Given the description of an element on the screen output the (x, y) to click on. 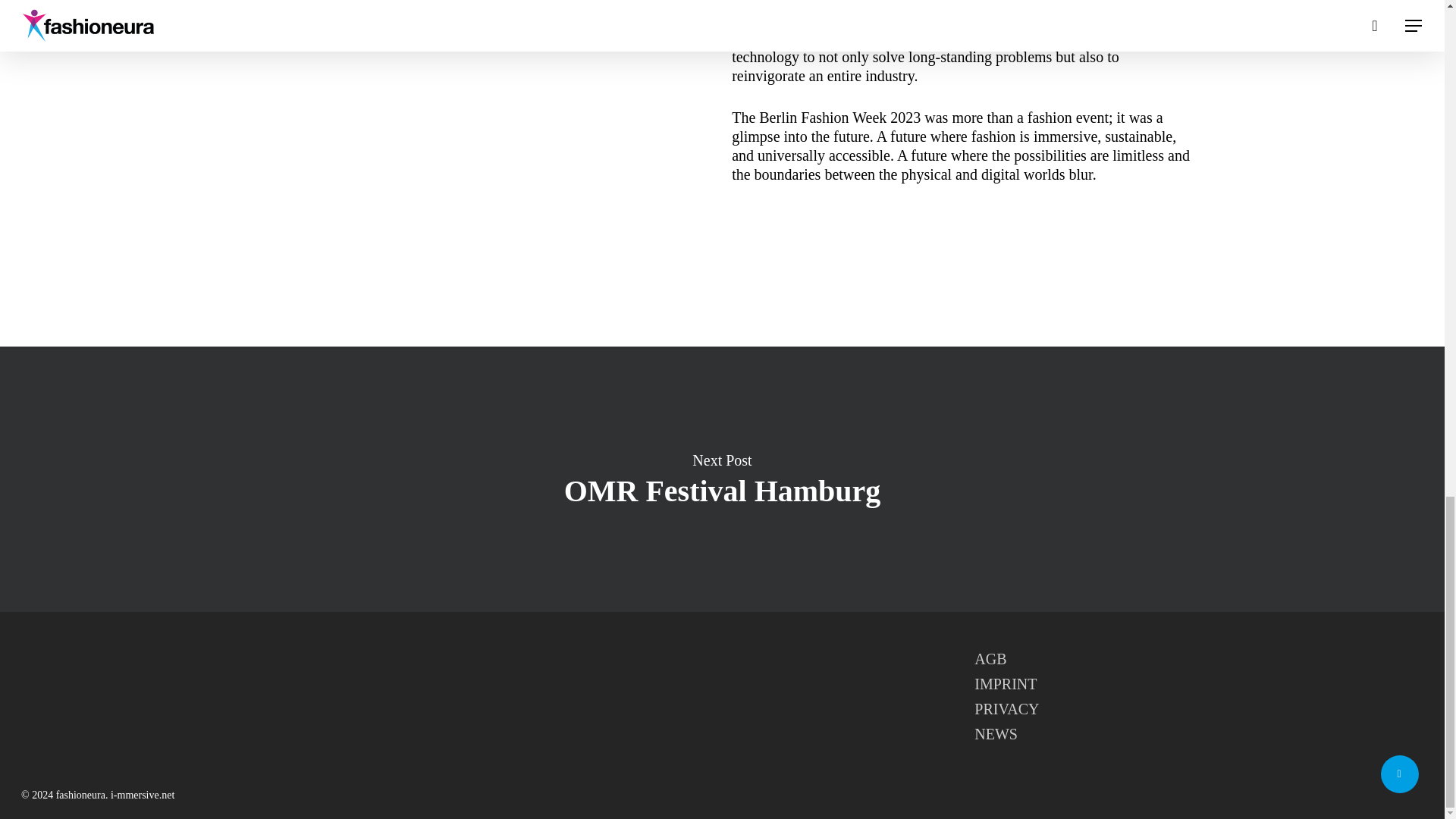
IMPRINT (1198, 683)
NEWS (1198, 733)
PRIVACY (1198, 709)
AGB (1198, 659)
